Given the description of an element on the screen output the (x, y) to click on. 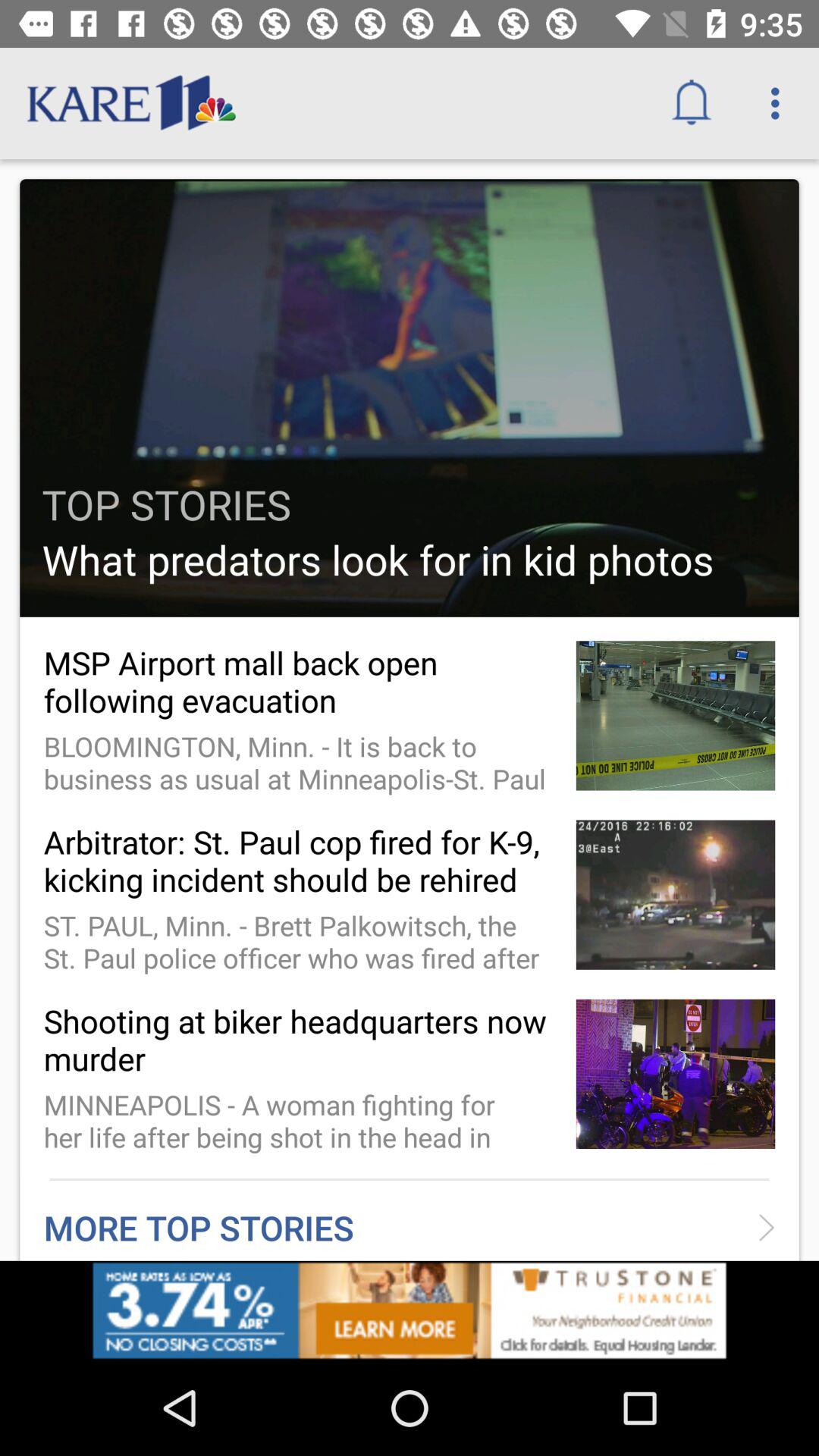
select the button at top right corner of page (779, 103)
